Given the description of an element on the screen output the (x, y) to click on. 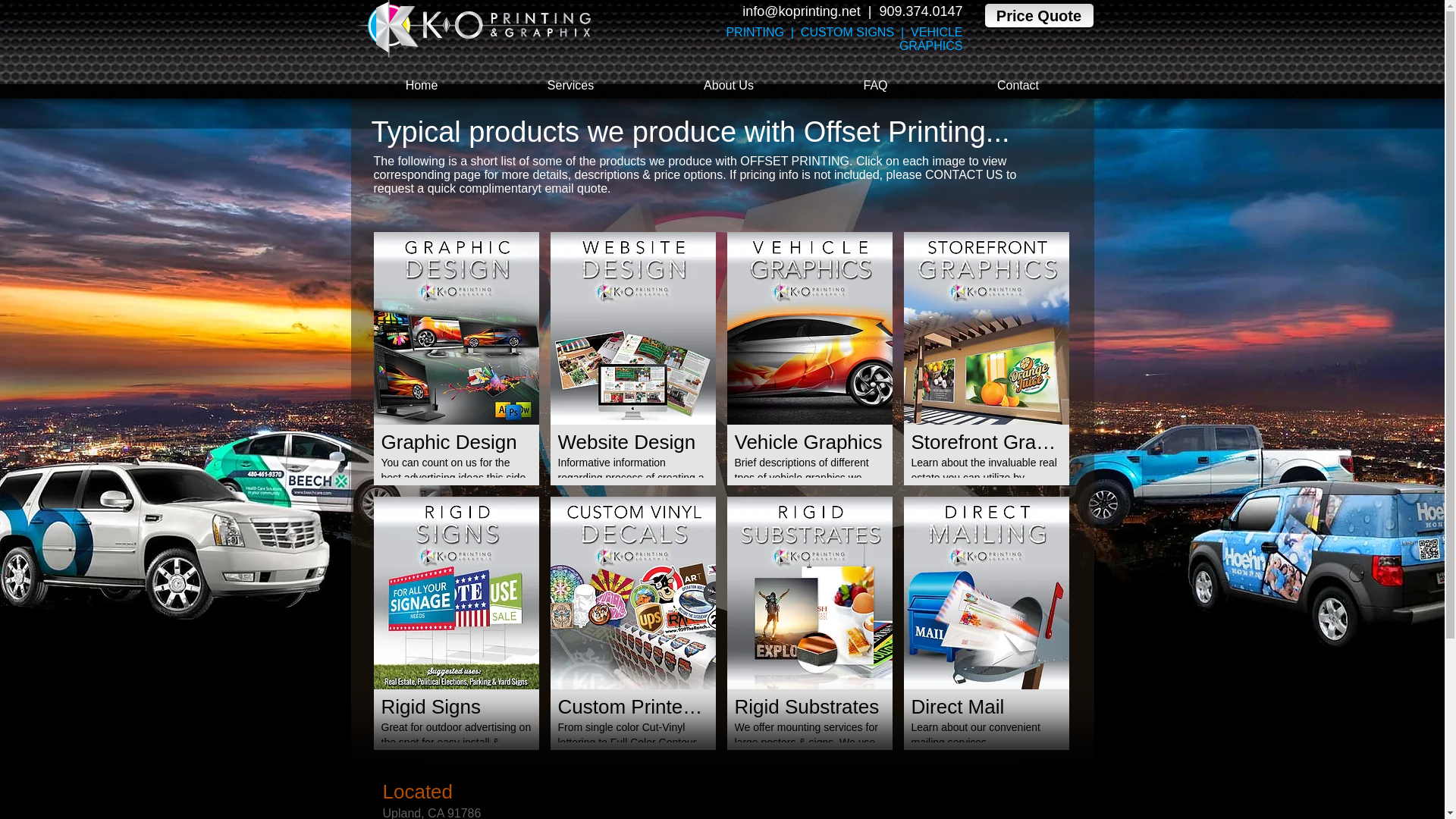
Price Quote (1038, 15)
Home (421, 85)
Contact (1017, 85)
FAQ (875, 85)
Services (571, 85)
About Us (729, 85)
Embedded Content (1001, 803)
KO-Logo-White-Gradient-Lett.png (474, 28)
